Given the description of an element on the screen output the (x, y) to click on. 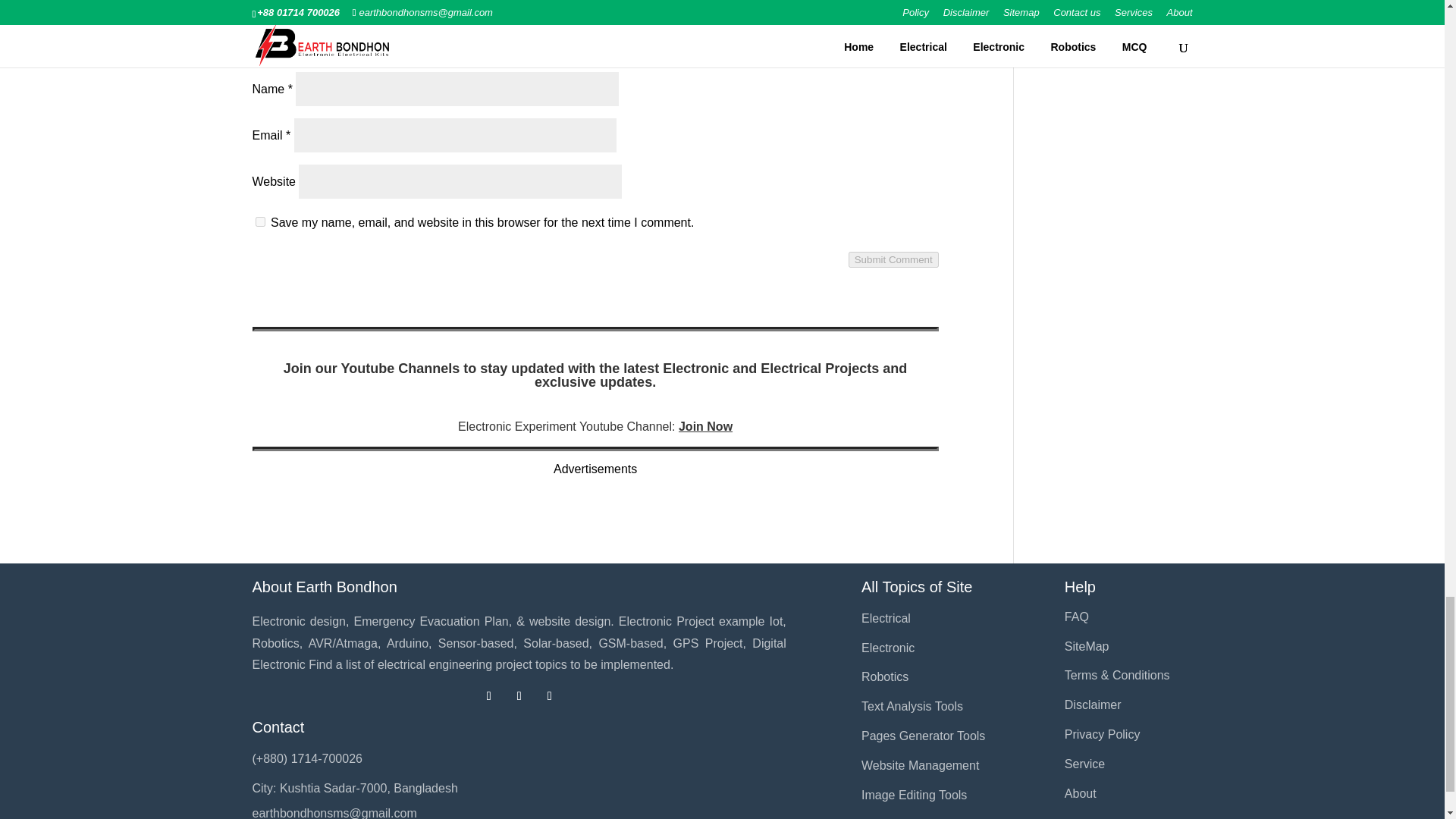
Follow on Facebook (488, 695)
yes (259, 221)
Follow on X (518, 695)
Follow on Youtube (549, 695)
